Given the description of an element on the screen output the (x, y) to click on. 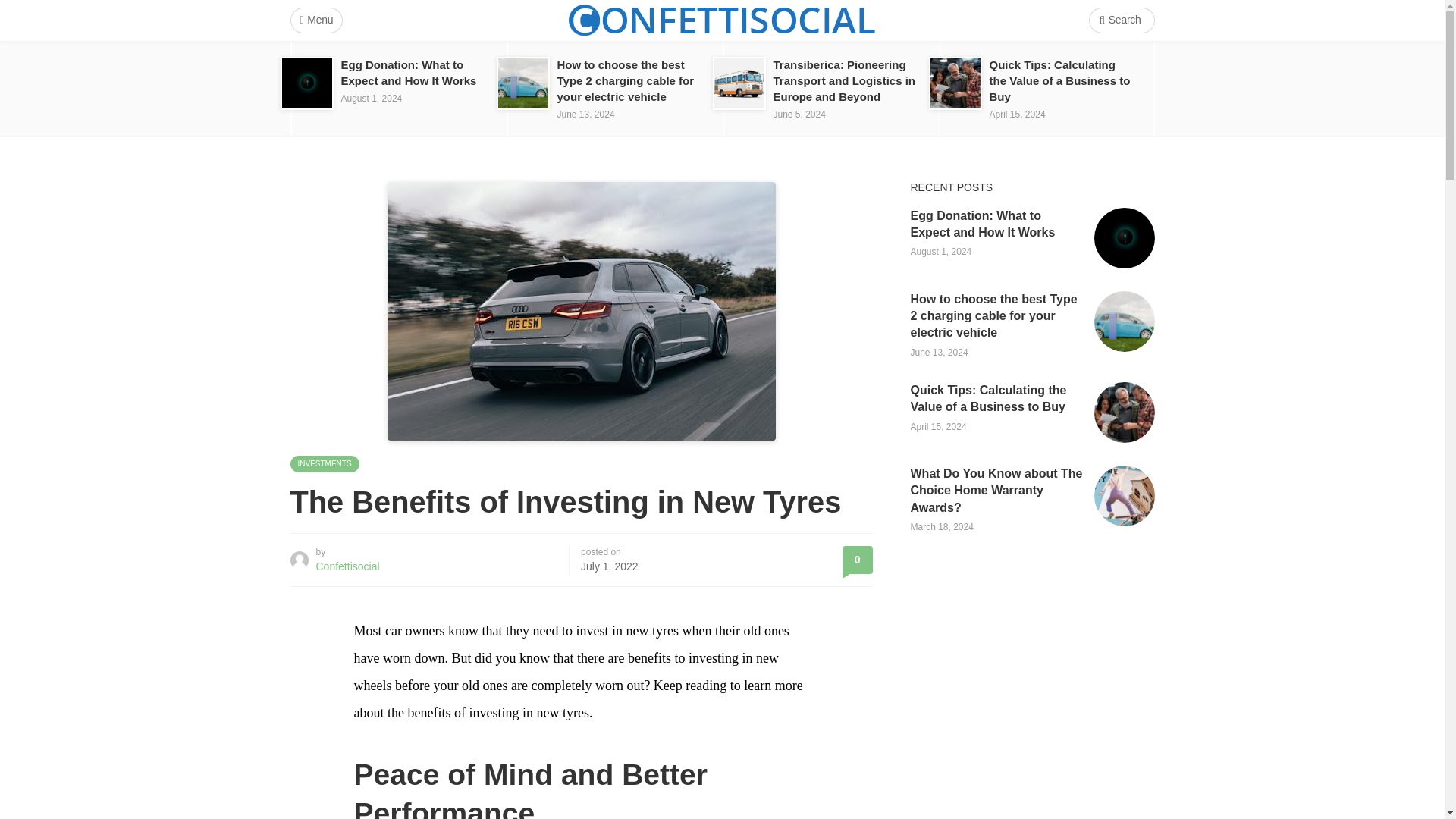
INVESTMENTS (323, 463)
View all posts in Investments (323, 463)
Egg Donation: What to Expect and How It Works (408, 72)
June 5, 2024 (799, 113)
Comment (857, 560)
August 1, 2024 (371, 98)
June 13, 2024 (585, 113)
Confettisocial (346, 566)
